Given the description of an element on the screen output the (x, y) to click on. 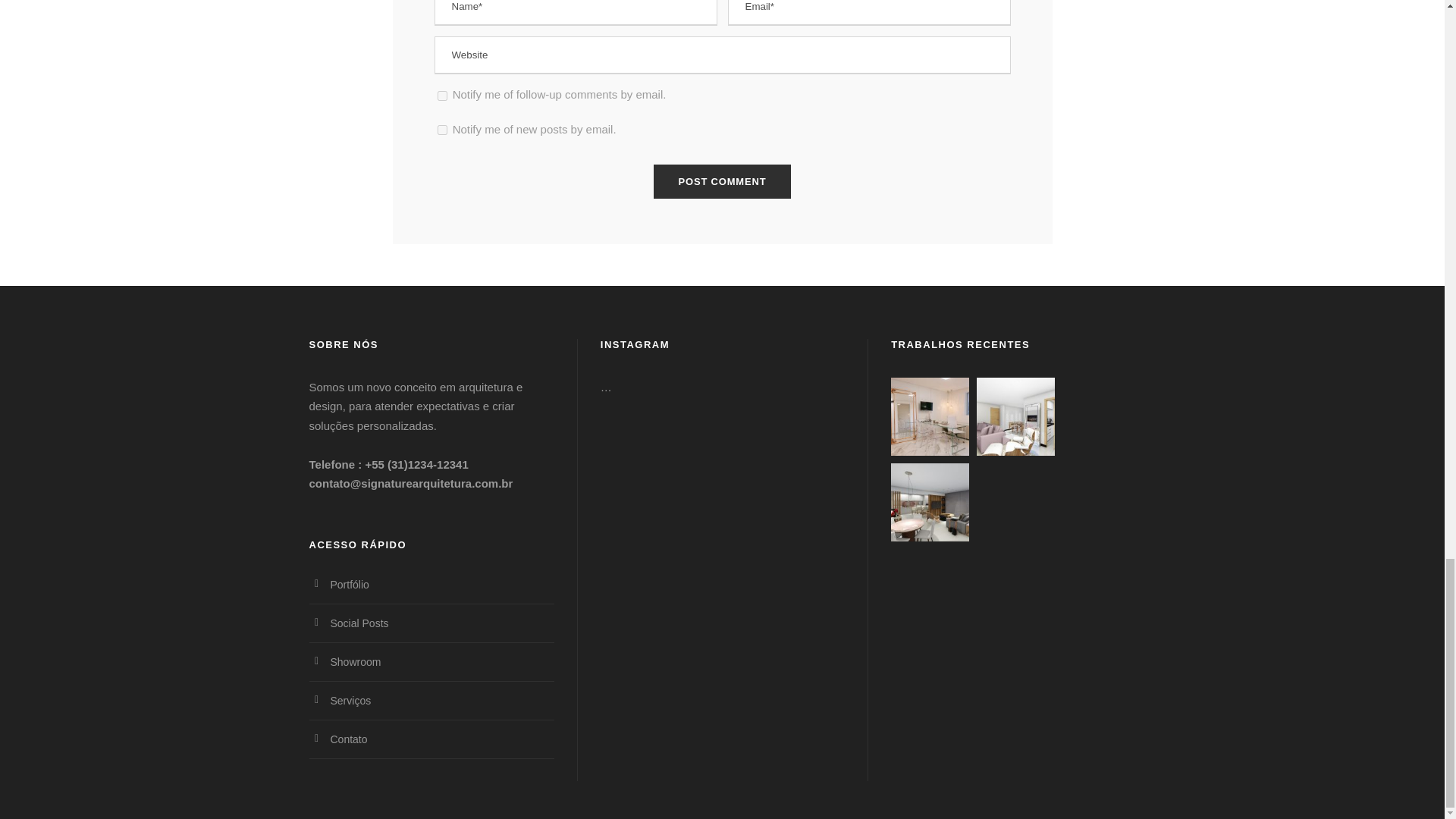
subscribe (441, 130)
subscribe (441, 95)
Post Comment (722, 181)
Social Posts (359, 623)
Post Comment (722, 181)
